Given the description of an element on the screen output the (x, y) to click on. 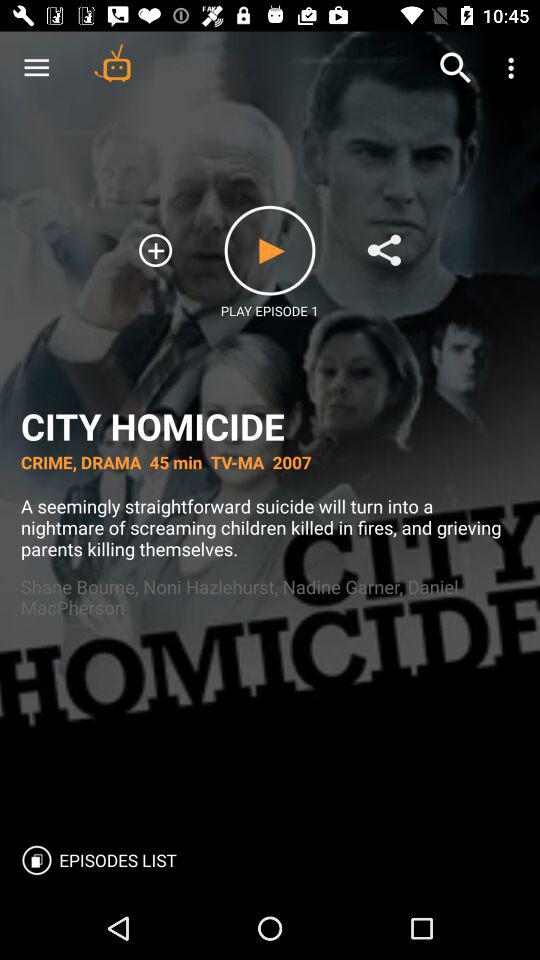
share media (383, 250)
